Given the description of an element on the screen output the (x, y) to click on. 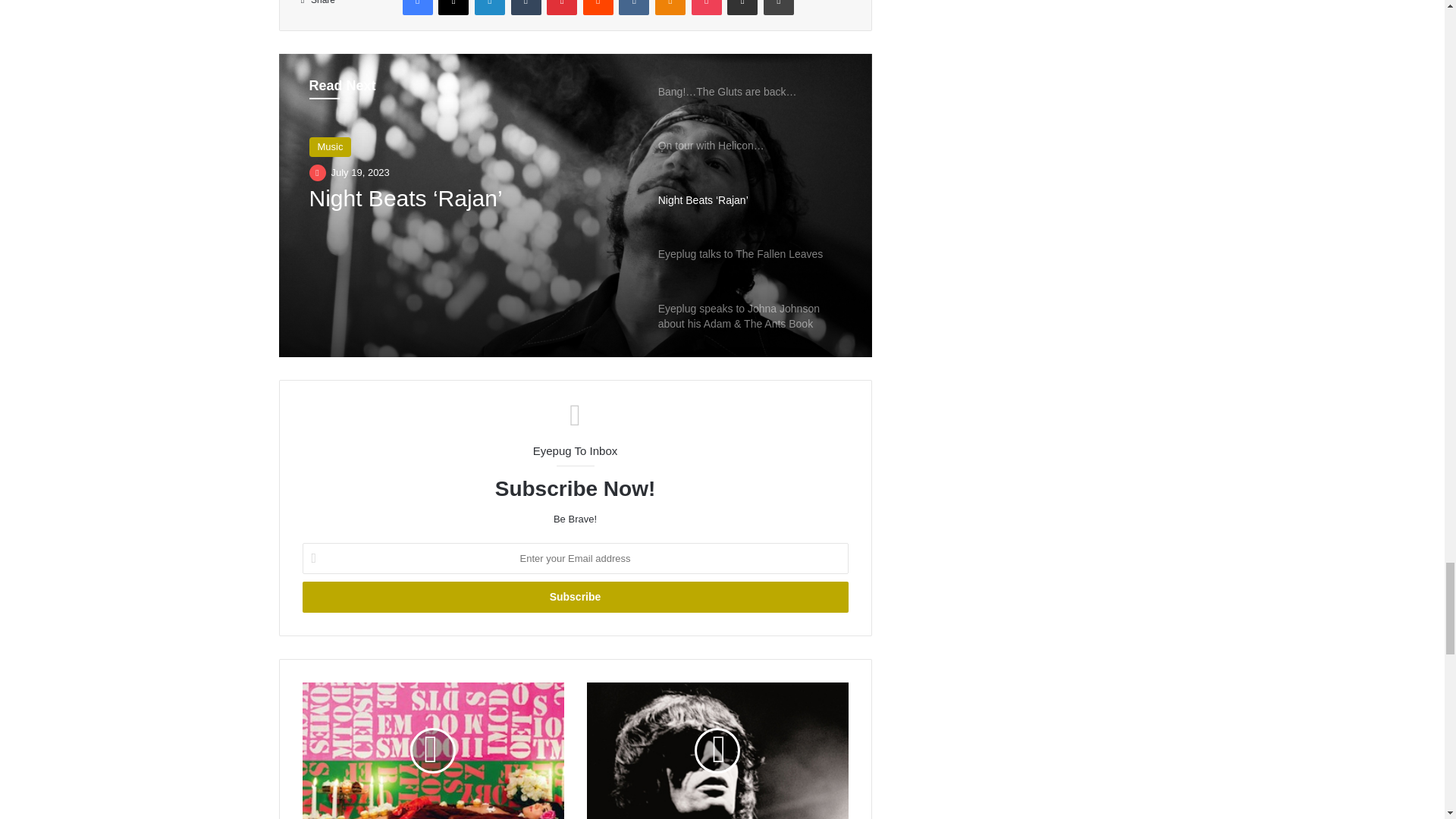
Subscribe (574, 596)
